Given the description of an element on the screen output the (x, y) to click on. 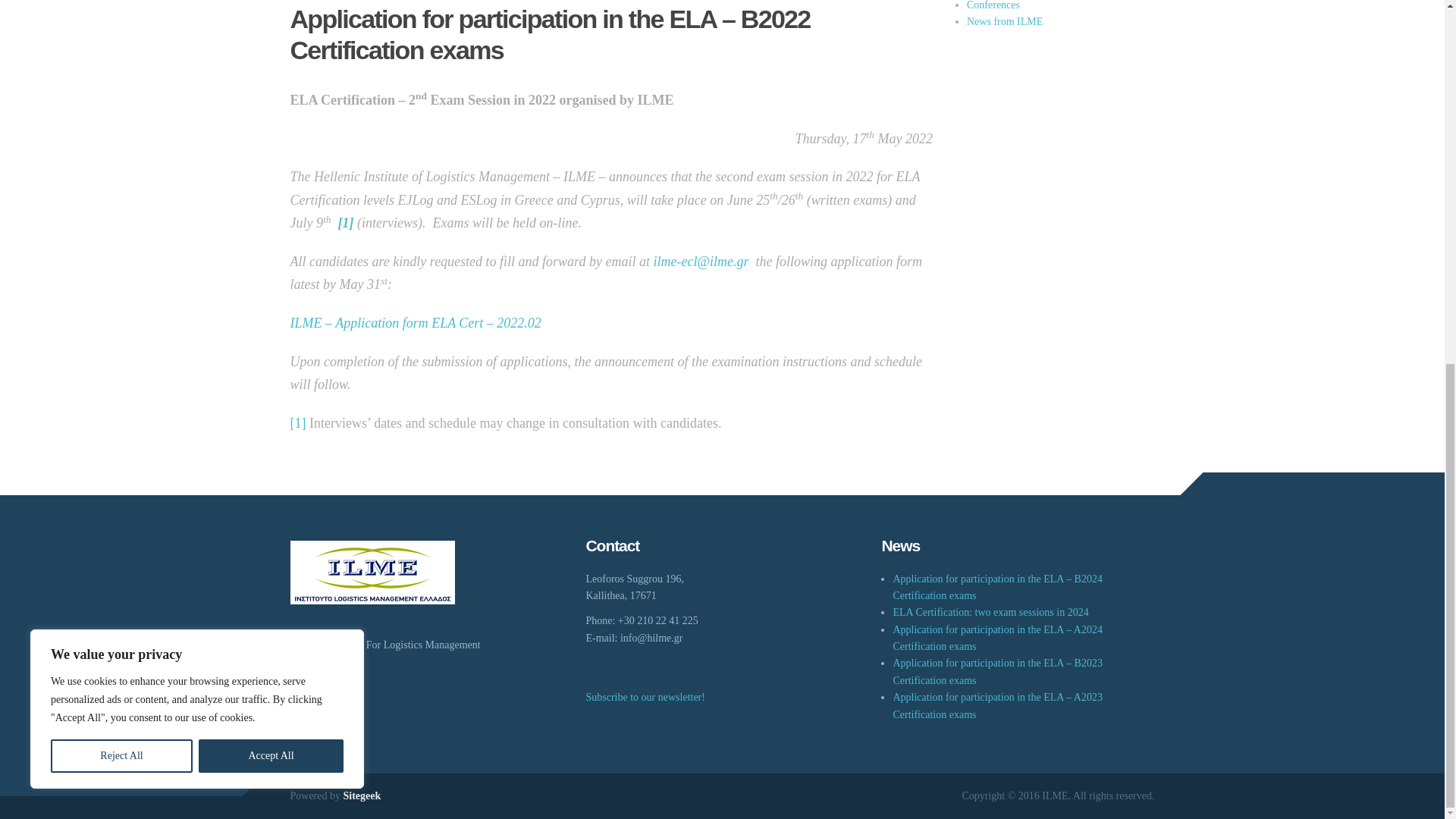
Accept All (270, 103)
Reject All (121, 103)
